Given the description of an element on the screen output the (x, y) to click on. 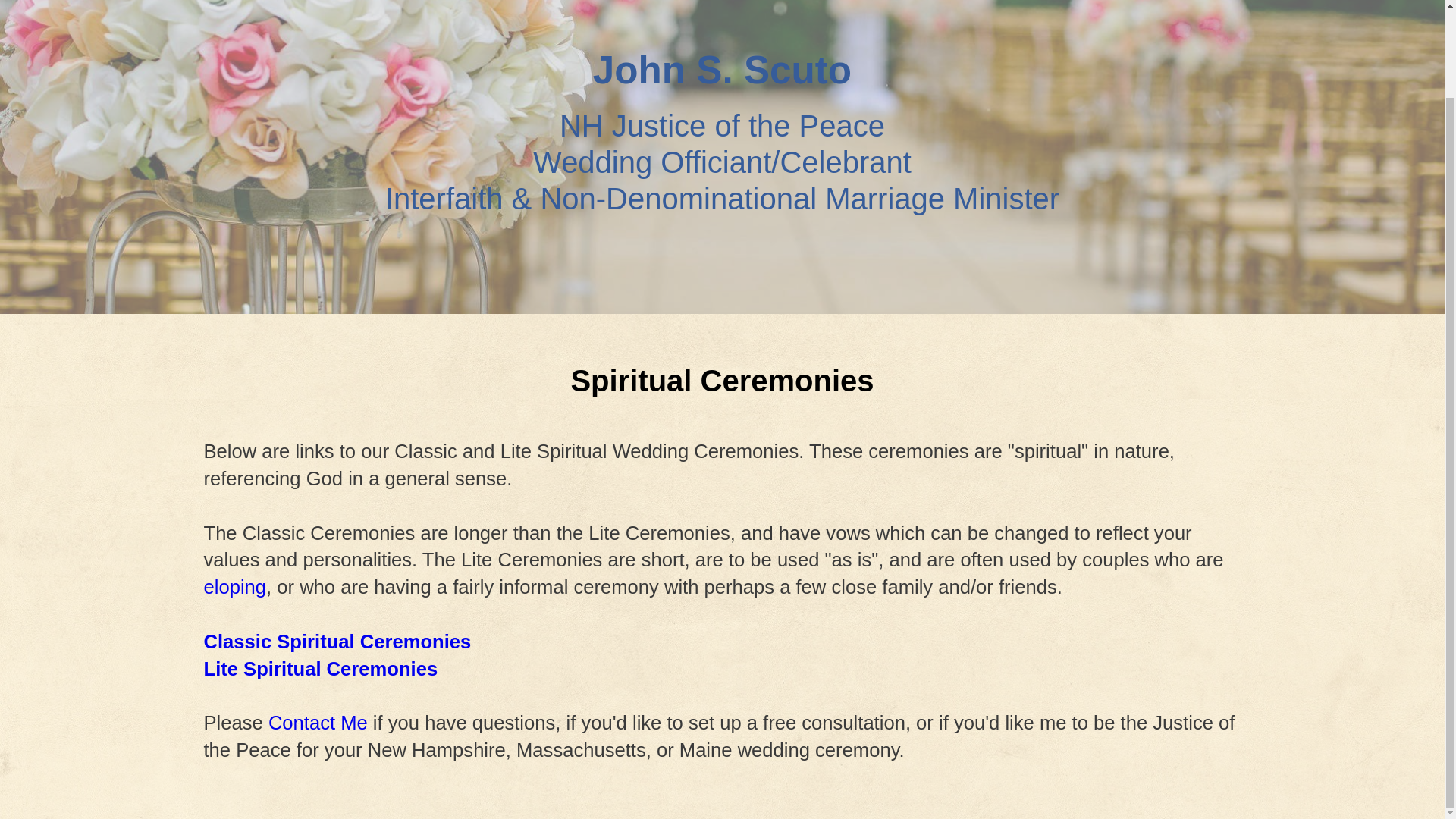
Lite Spiritual Ceremonies (320, 668)
Contact Me (317, 722)
Classic Spiritual Ceremonies (336, 640)
eloping (234, 586)
